Given the description of an element on the screen output the (x, y) to click on. 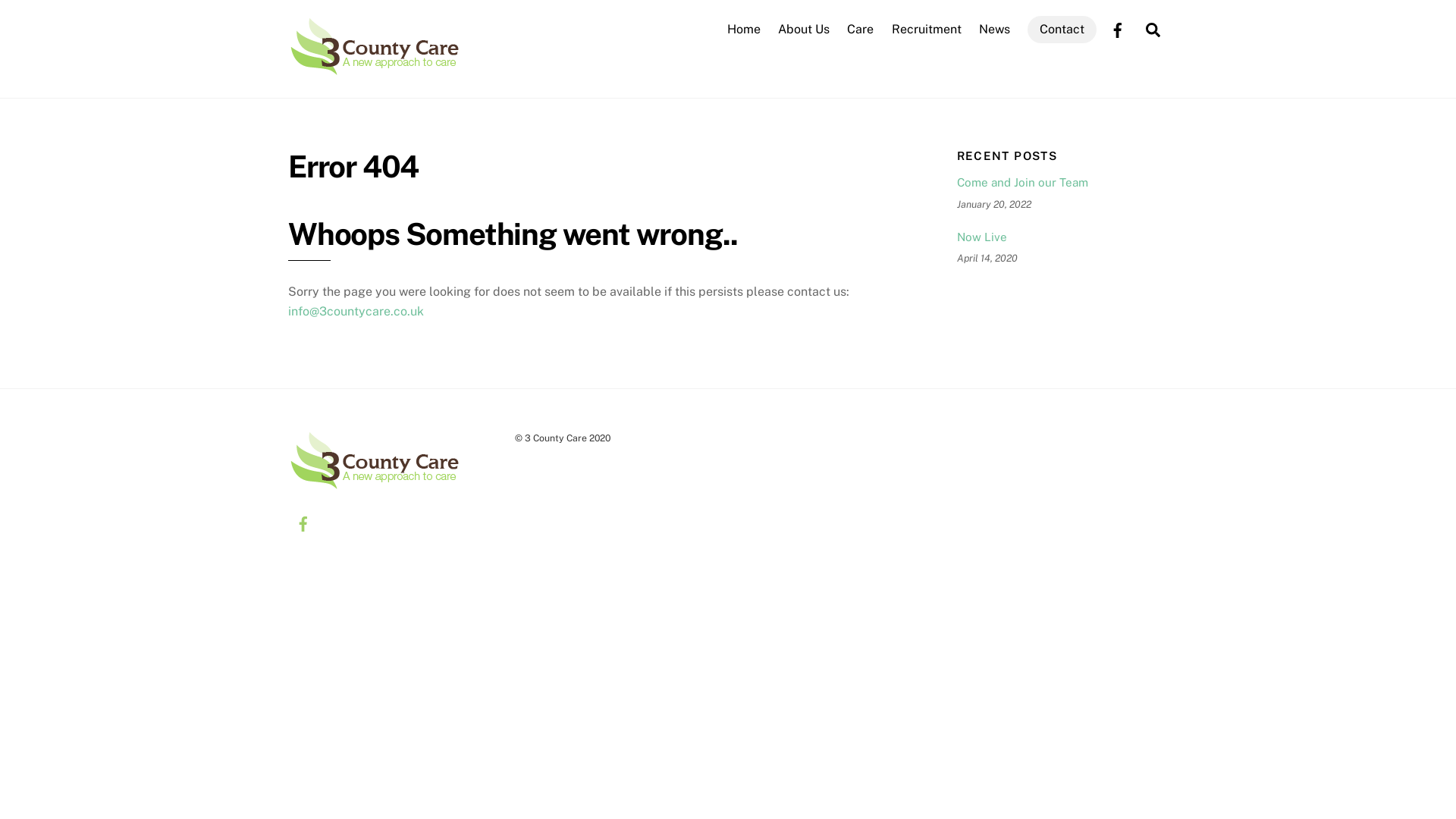
info@3countycare.co.uk Element type: text (355, 311)
News Element type: text (993, 29)
3 County Care Element type: hover (374, 68)
Now Live Element type: text (1062, 236)
Come and Join our Team Element type: text (1062, 182)
3 County Care Element type: hover (374, 484)
3 County Care Element type: hover (374, 459)
3 County Care Element type: hover (374, 45)
Search Element type: text (1152, 28)
Care Element type: text (860, 29)
About Us Element type: text (804, 29)
Home Element type: text (743, 29)
Contact Element type: text (1061, 29)
Recruitment Element type: text (926, 29)
